Given the description of an element on the screen output the (x, y) to click on. 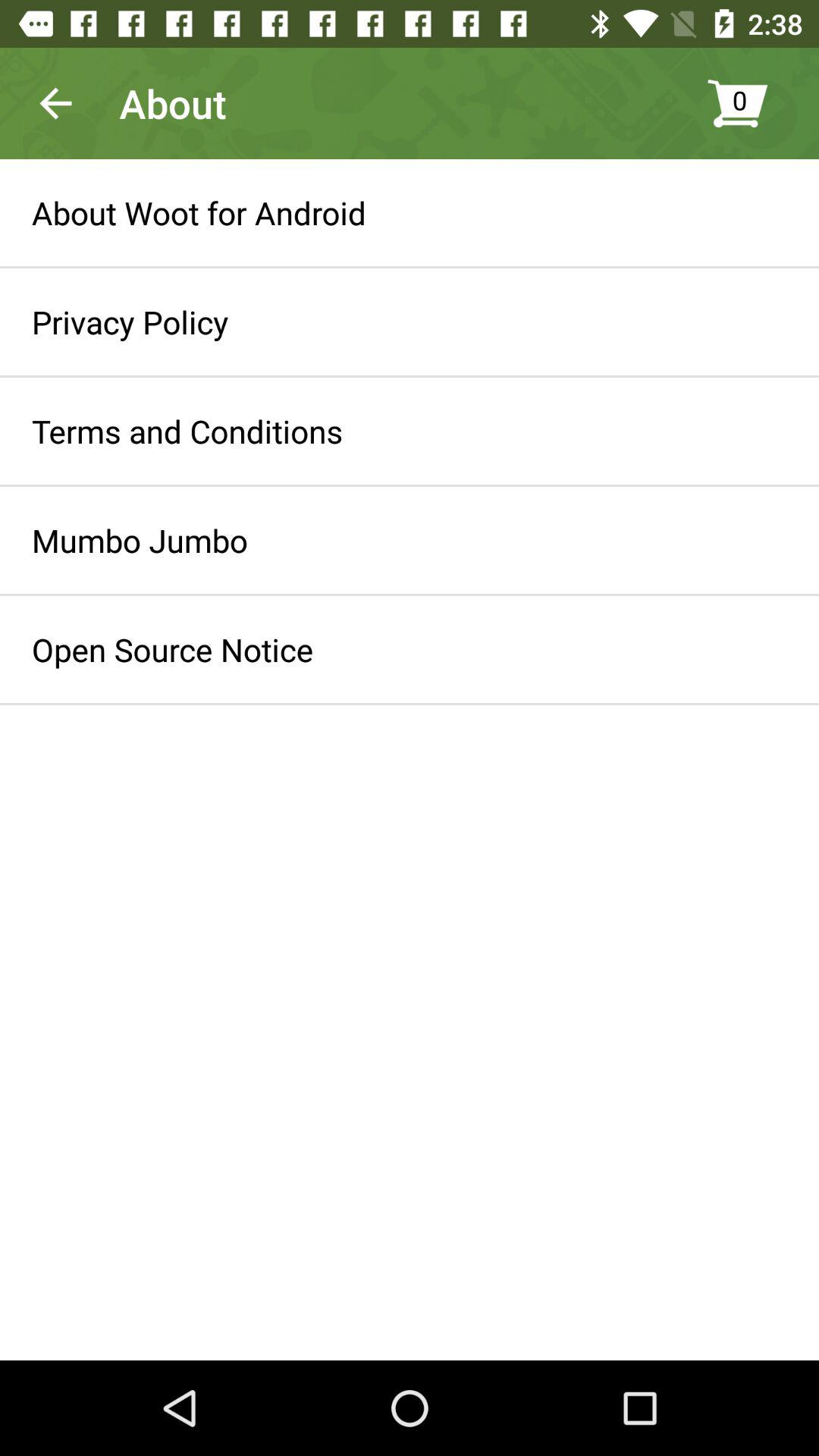
swipe to 0 item (755, 103)
